Given the description of an element on the screen output the (x, y) to click on. 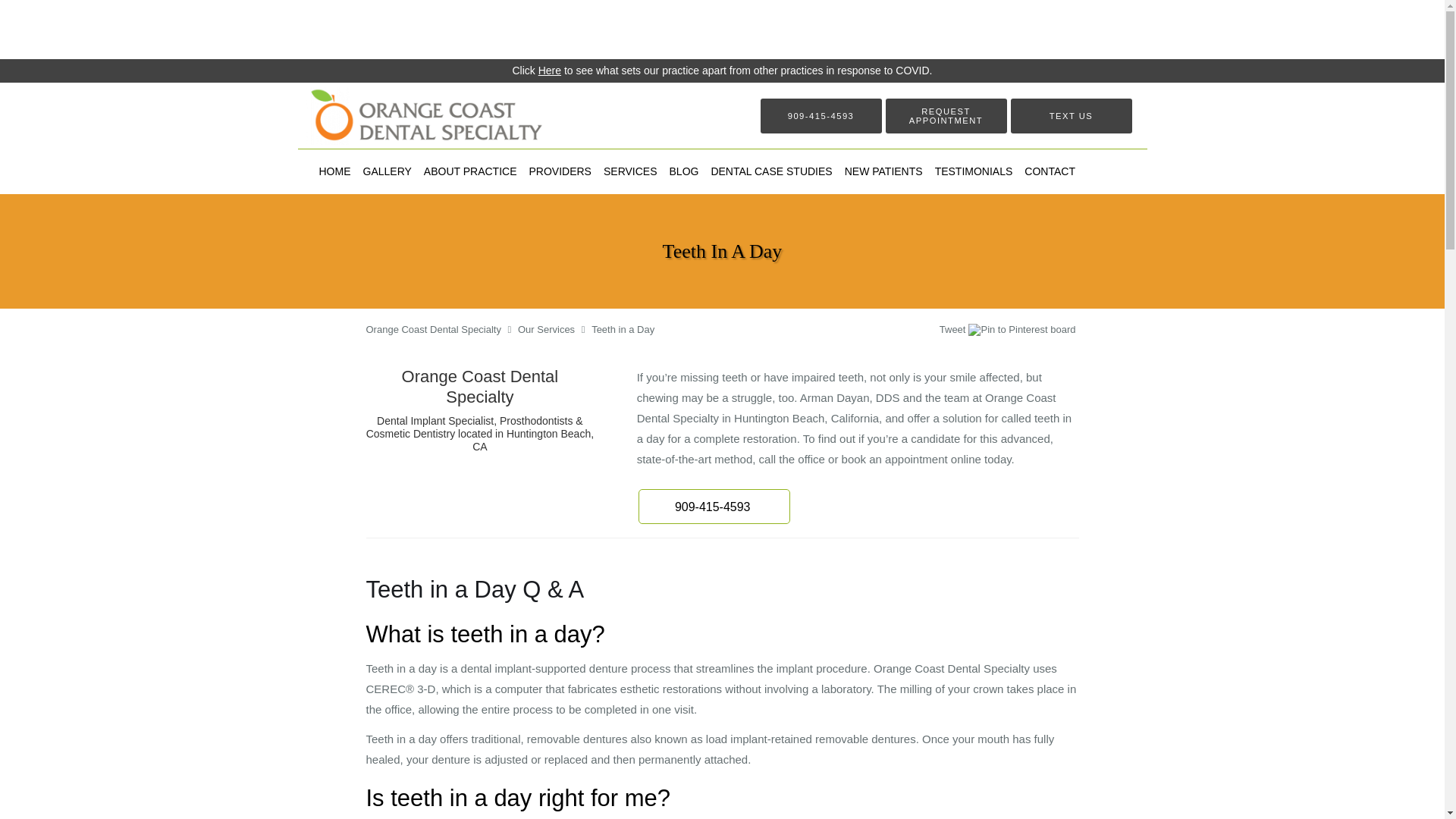
REQUEST APPOINTMENT (946, 115)
ABOUT PRACTICE (469, 171)
Tweet (952, 328)
BLOG (683, 171)
TEXT US (1070, 115)
HOME (334, 171)
PROVIDERS (559, 171)
Teeth in a Day (622, 328)
909-415-4593 (714, 506)
Orange Coast Dental Specialty (432, 328)
